Given the description of an element on the screen output the (x, y) to click on. 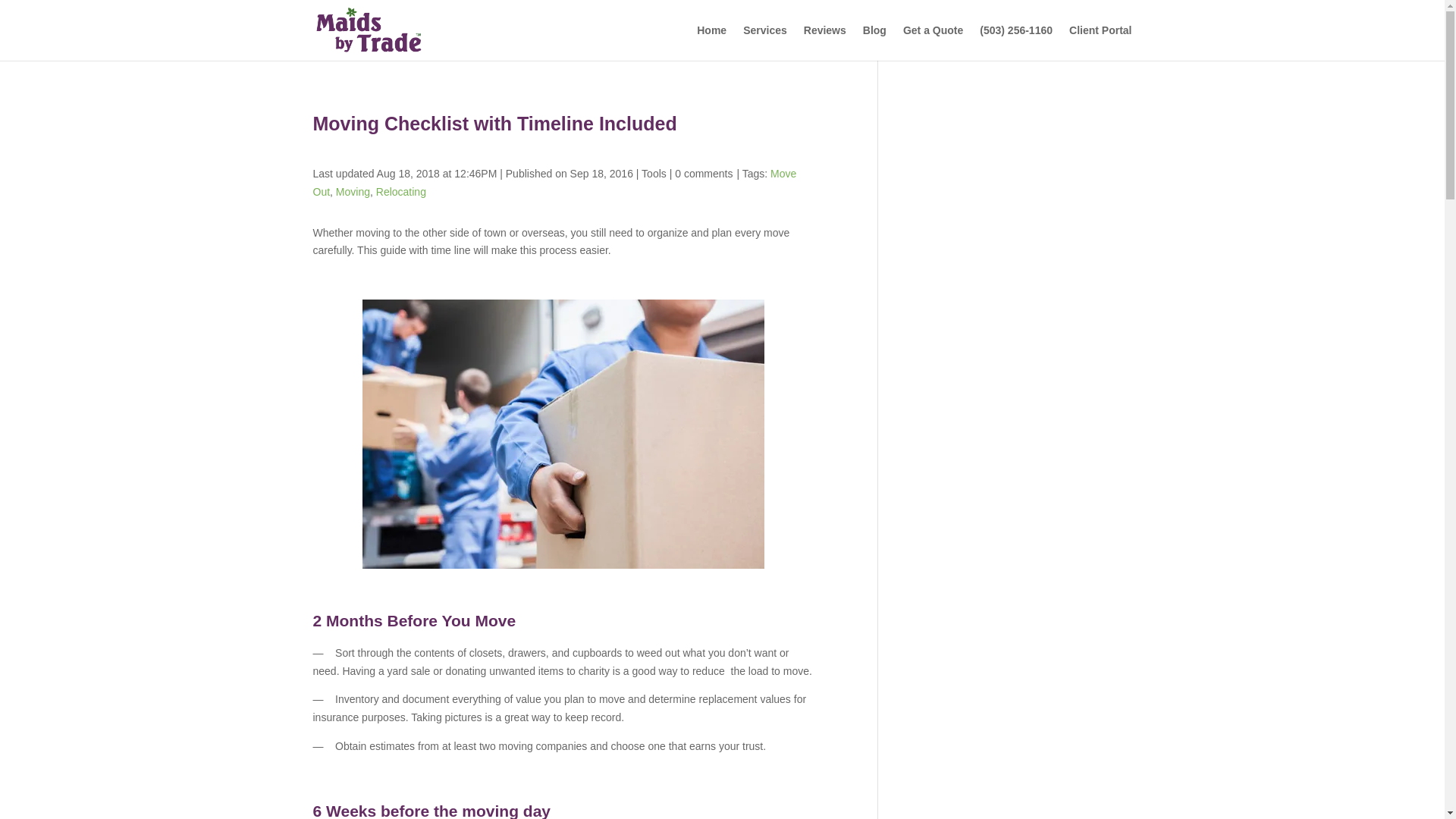
Relocating (400, 191)
Move Out (554, 182)
Reviews (824, 42)
Get a Quote (932, 42)
Moving (352, 191)
Tools (654, 173)
Services (764, 42)
Client Portal (1099, 42)
Moving Checklist with Timeline Included (563, 433)
0 comments (703, 173)
